Given the description of an element on the screen output the (x, y) to click on. 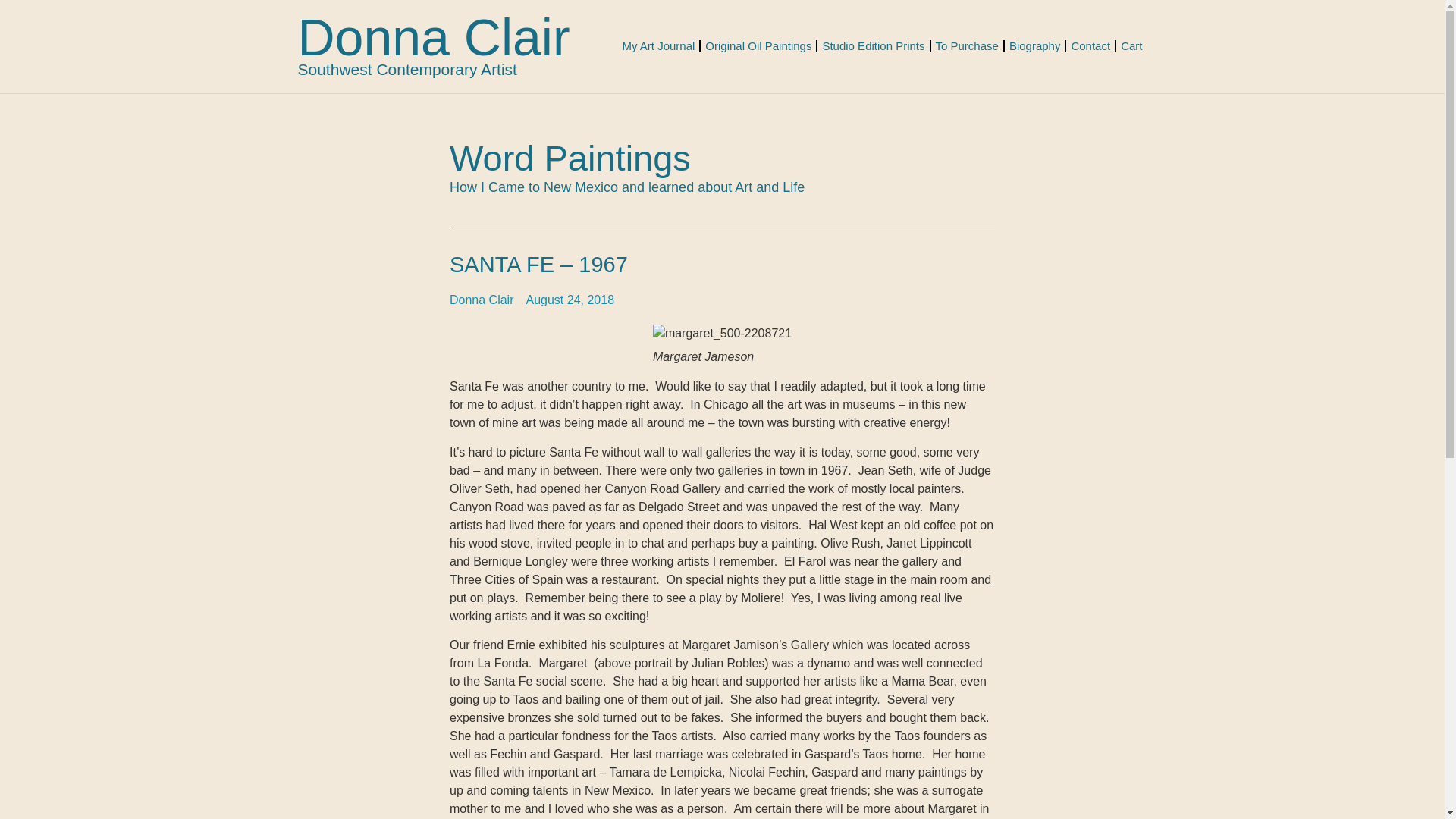
My Art Journal (657, 45)
Word Paintings (569, 158)
Donna Clair (433, 37)
Studio Edition Prints (872, 45)
To Purchase (967, 45)
Biography (1034, 45)
Contact (1090, 45)
Original Oil Paintings (757, 45)
